Given the description of an element on the screen output the (x, y) to click on. 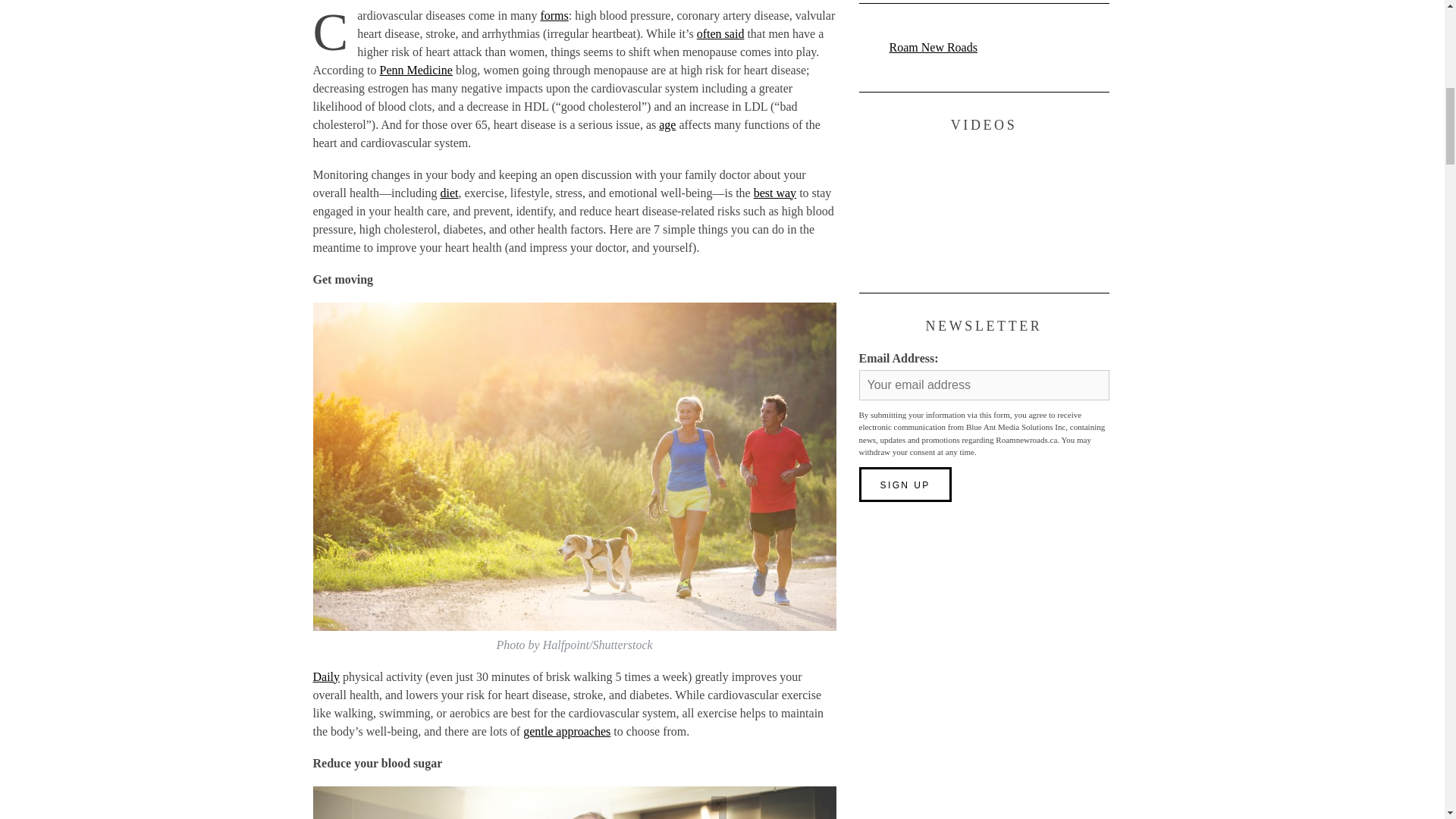
Reduce your blood sugar (377, 762)
Sign up (904, 484)
Get moving (342, 278)
